Given the description of an element on the screen output the (x, y) to click on. 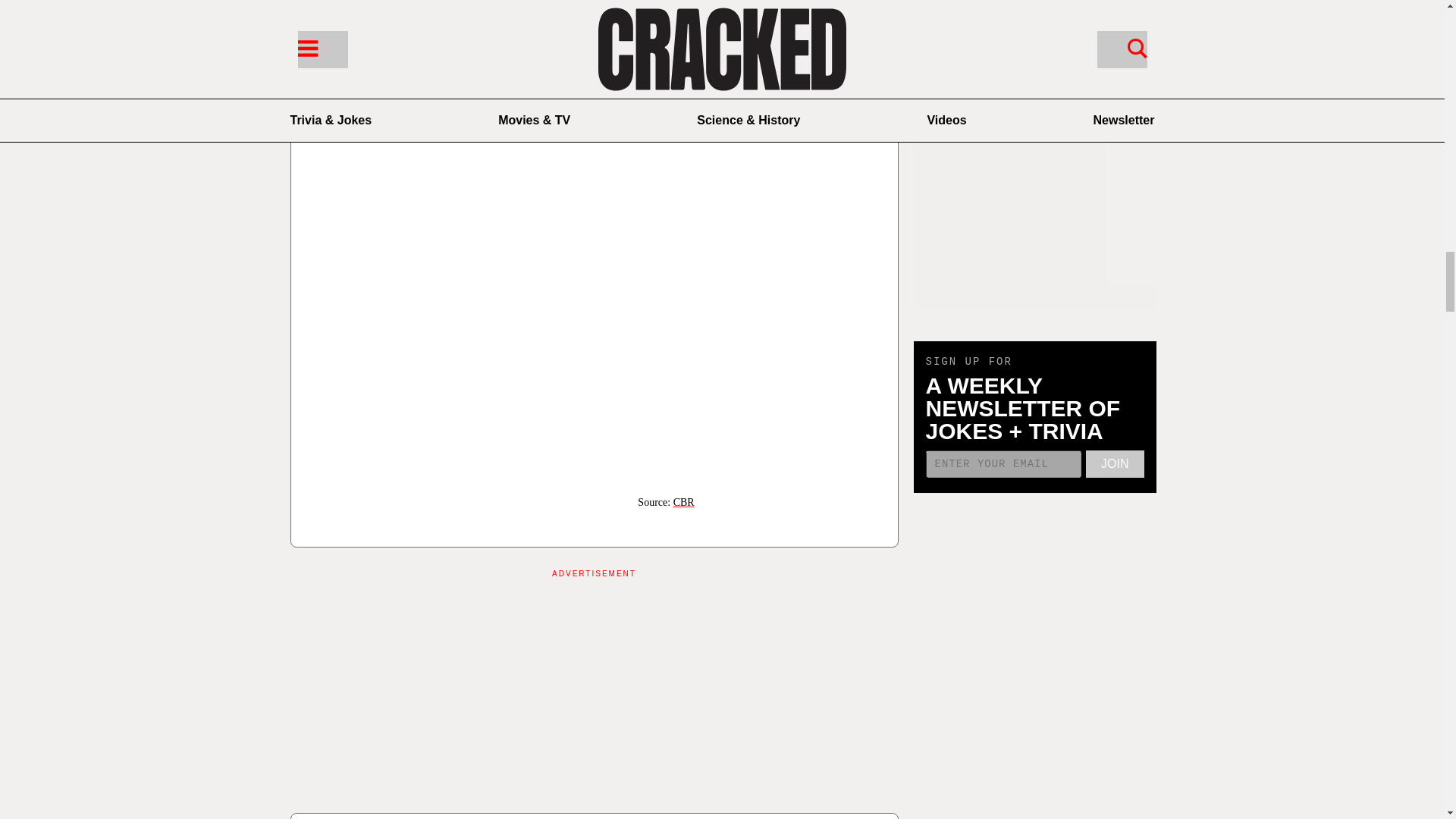
CBR (683, 501)
